Given the description of an element on the screen output the (x, y) to click on. 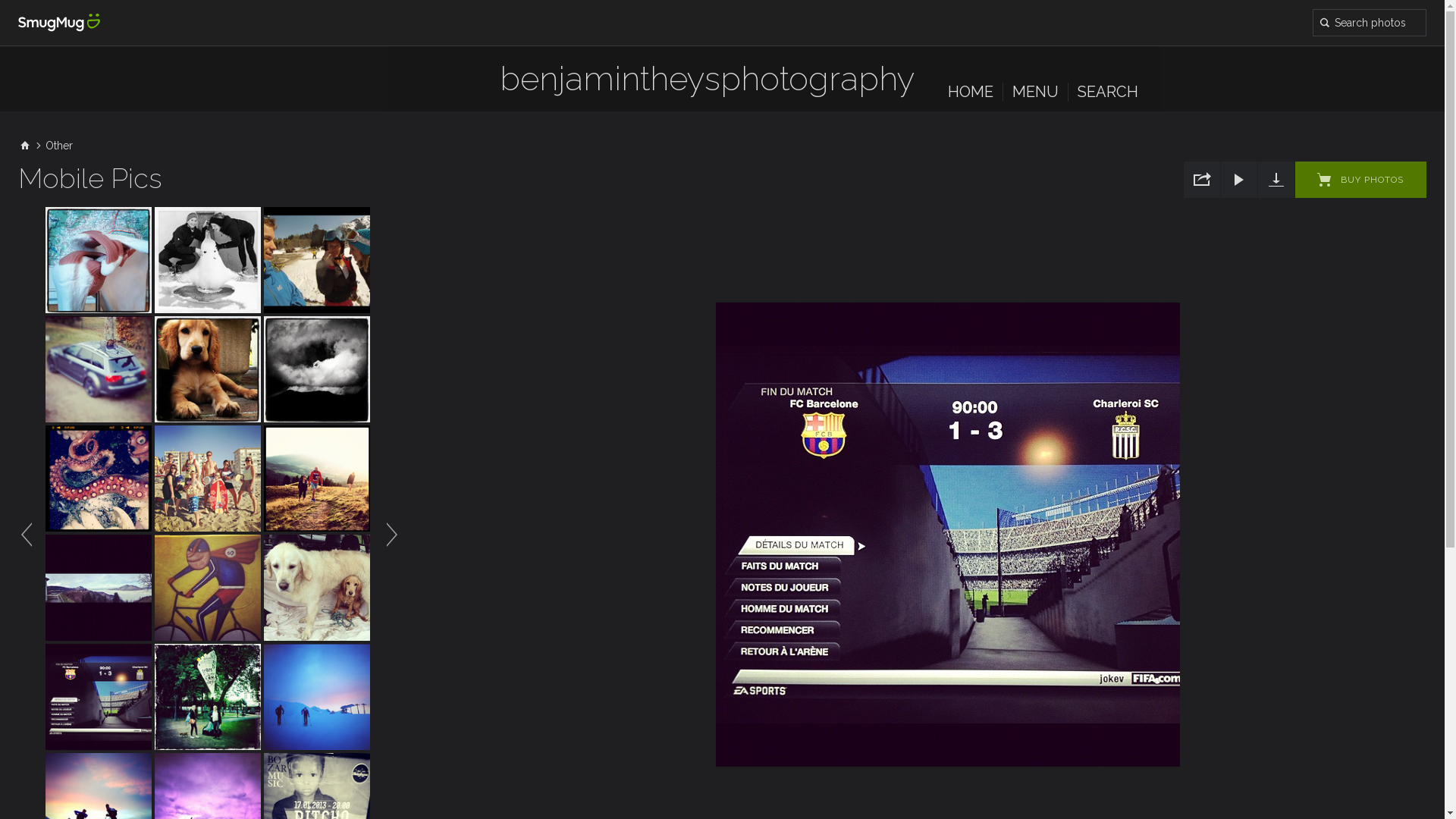
Download All Element type: hover (1276, 179)
HOME Element type: text (970, 91)
Slideshow Element type: hover (1238, 179)
Search "Mobile Pics" for photos Element type: hover (1369, 22)
benjamintheysphotography Element type: text (707, 86)
MENU Element type: text (1035, 91)
SmugMug Element type: hover (59, 22)
BUY PHOTOS Element type: text (1360, 179)
Other Element type: text (58, 145)
Share Gallery Element type: hover (1201, 179)
SEARCH Element type: text (1107, 91)
